Given the description of an element on the screen output the (x, y) to click on. 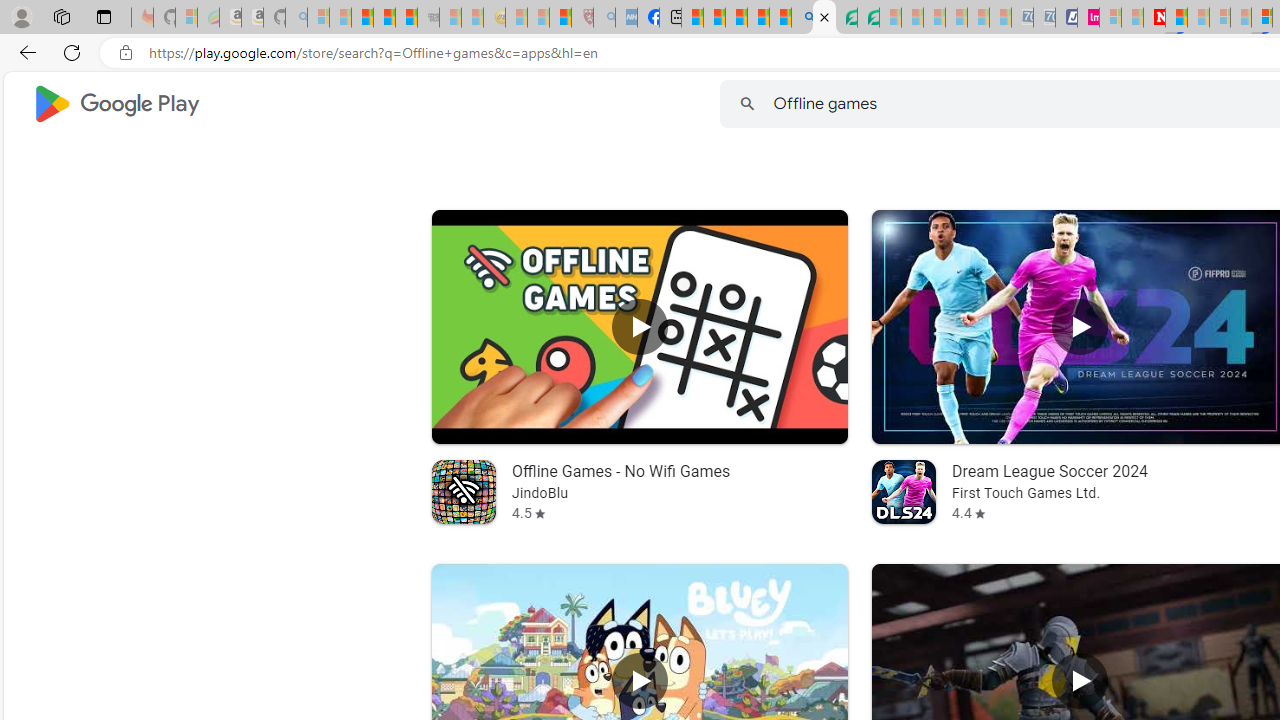
Trusted Community Engagement and Contributions | Guidelines (1176, 17)
Cheap Hotels - Save70.com - Sleeping (1044, 17)
Play Dream League Soccer 2024 (1079, 326)
MSNBC - MSN (692, 17)
New tab (670, 17)
Microsoft Start (736, 17)
Robert H. Shmerling, MD - Harvard Health - Sleeping (582, 17)
Recipes - MSN - Sleeping (516, 17)
